Given the description of an element on the screen output the (x, y) to click on. 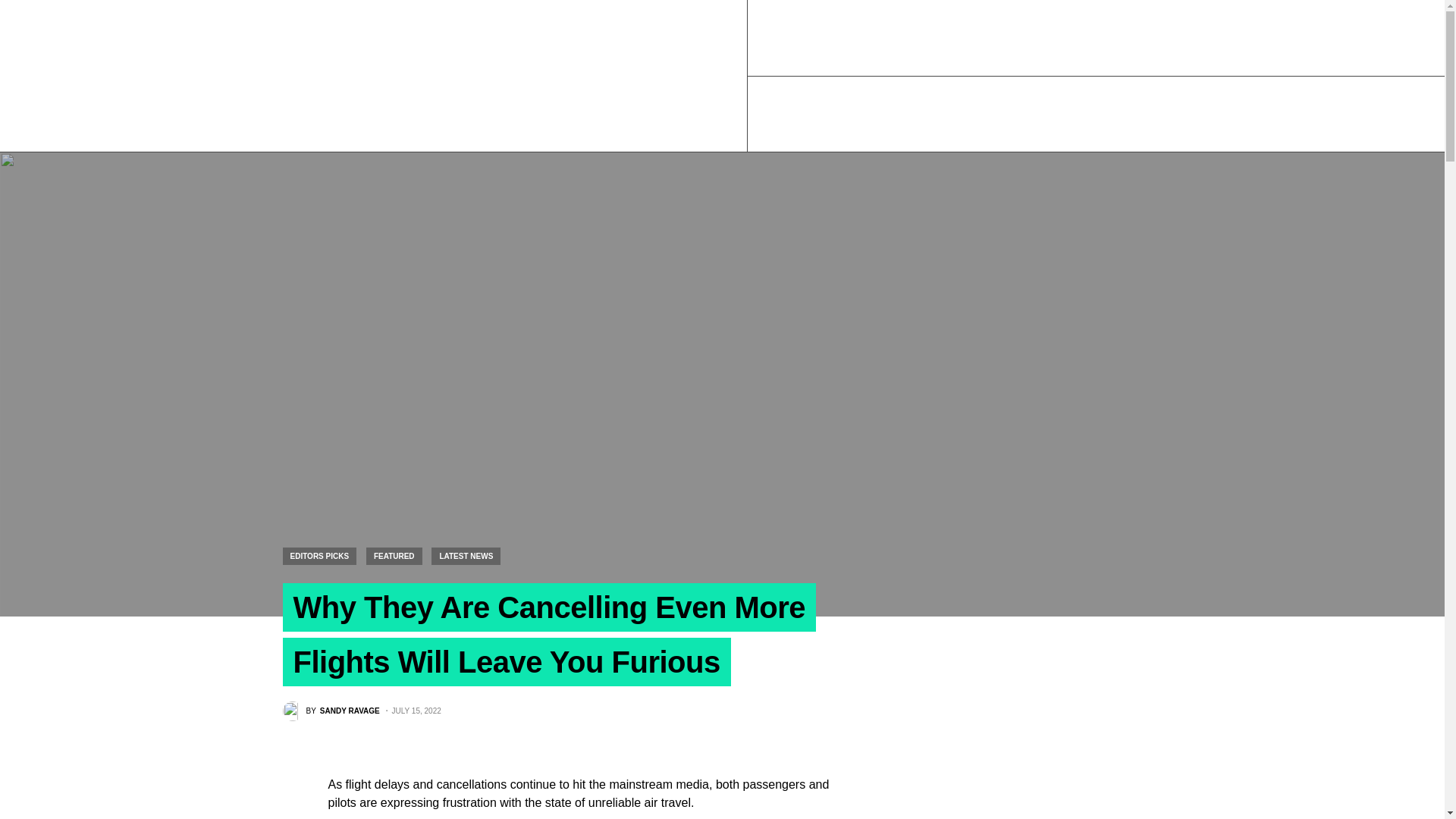
Featured (954, 114)
View all posts by Sandy Ravage (330, 711)
Scandal (1086, 114)
The House (1305, 114)
The Senate (1375, 114)
SCOTUS News (1159, 114)
Staff Picks (1237, 114)
The White House (1437, 114)
Editors Picks (884, 114)
Breaking News (799, 114)
Latest News (1021, 114)
